Given the description of an element on the screen output the (x, y) to click on. 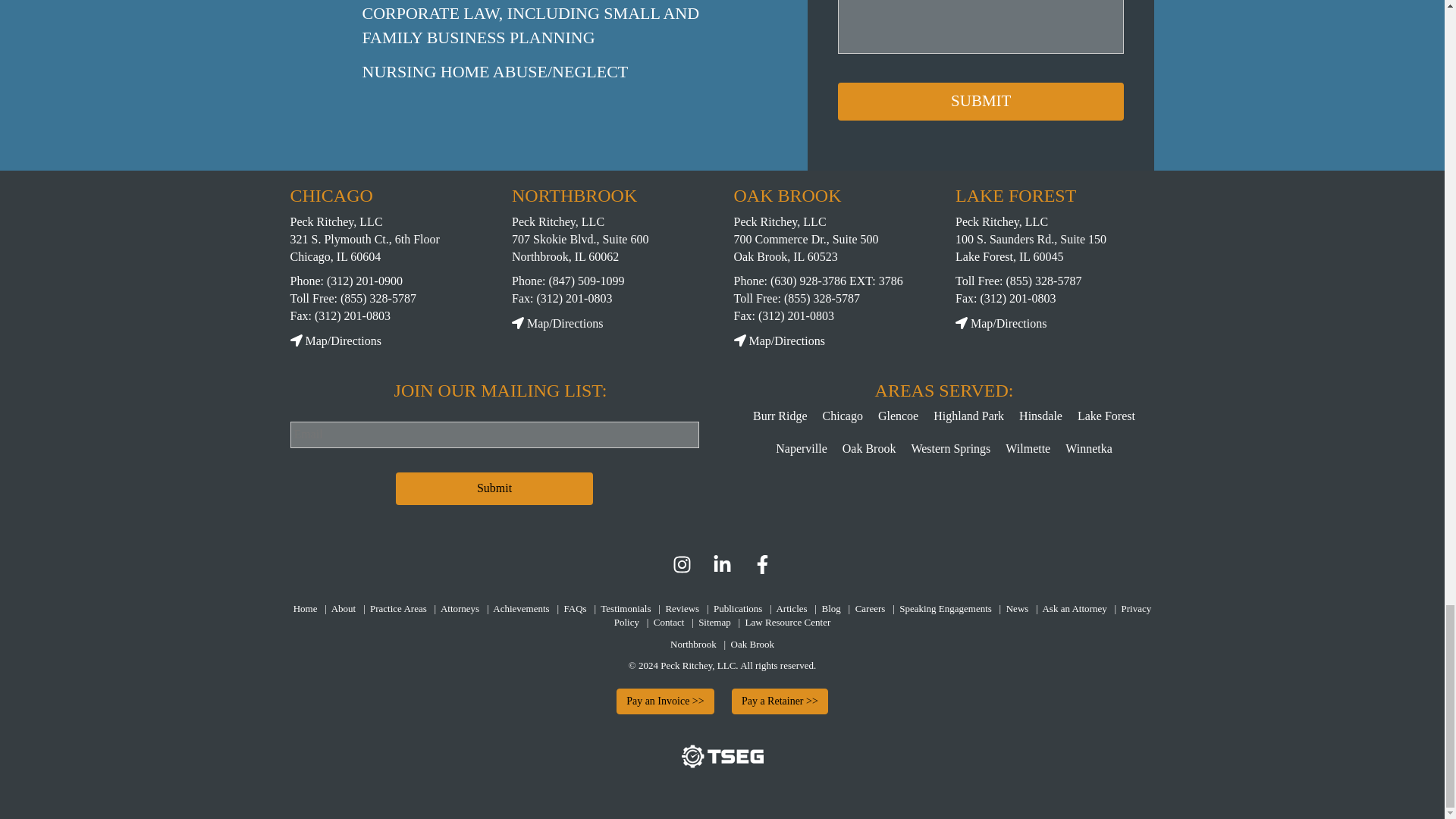
TSEG LOGO (721, 763)
Submit (981, 101)
Submit (494, 488)
